Given the description of an element on the screen output the (x, y) to click on. 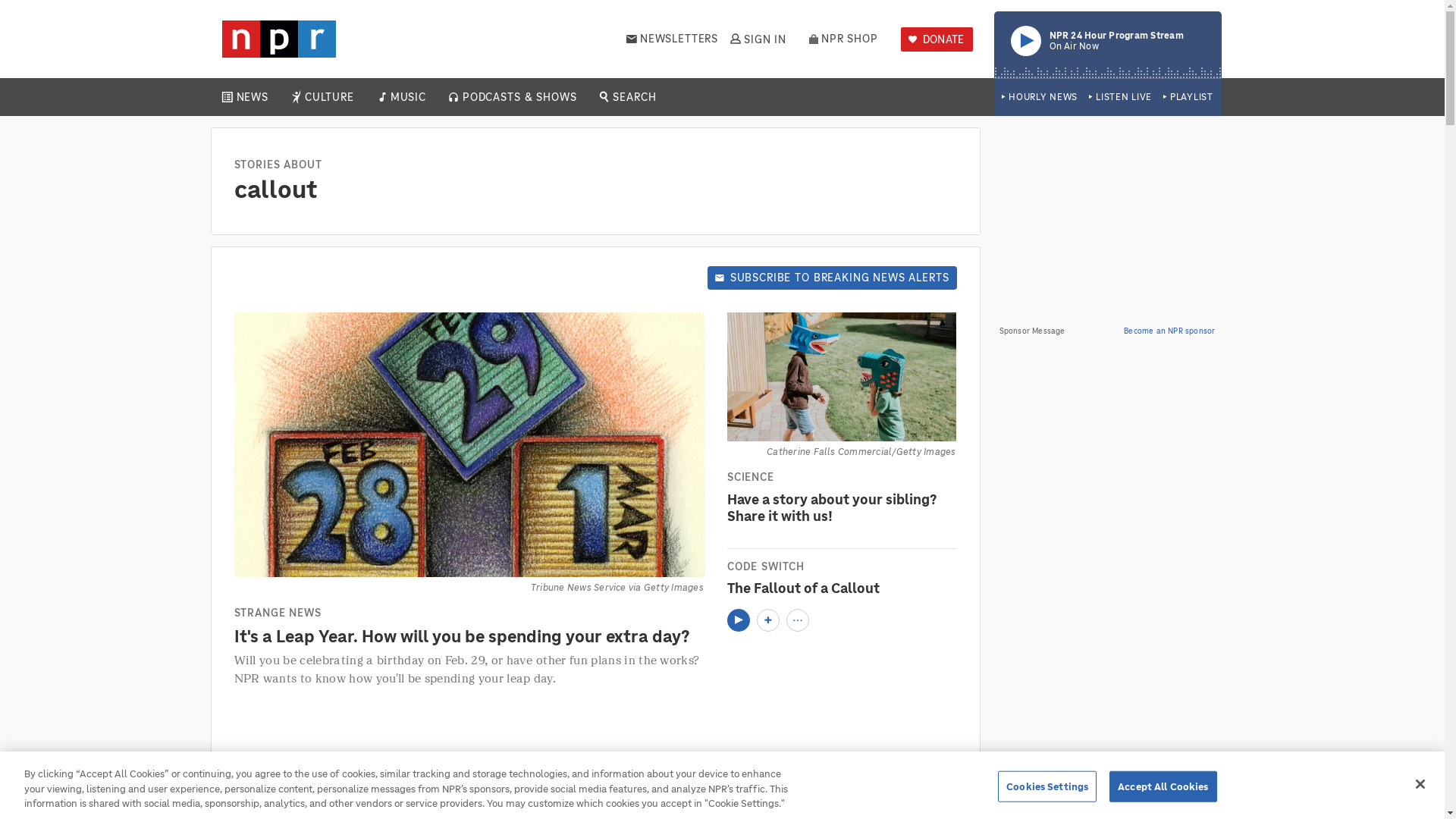
DONATE (936, 39)
NPR SHOP (1106, 44)
CULTURE (843, 38)
HOURLY NEWS (328, 96)
LISTEN LIVE (1039, 97)
SIGN IN (1120, 97)
PLAYLIST (757, 38)
NEWS (1187, 97)
NEWSLETTERS (251, 96)
